Given the description of an element on the screen output the (x, y) to click on. 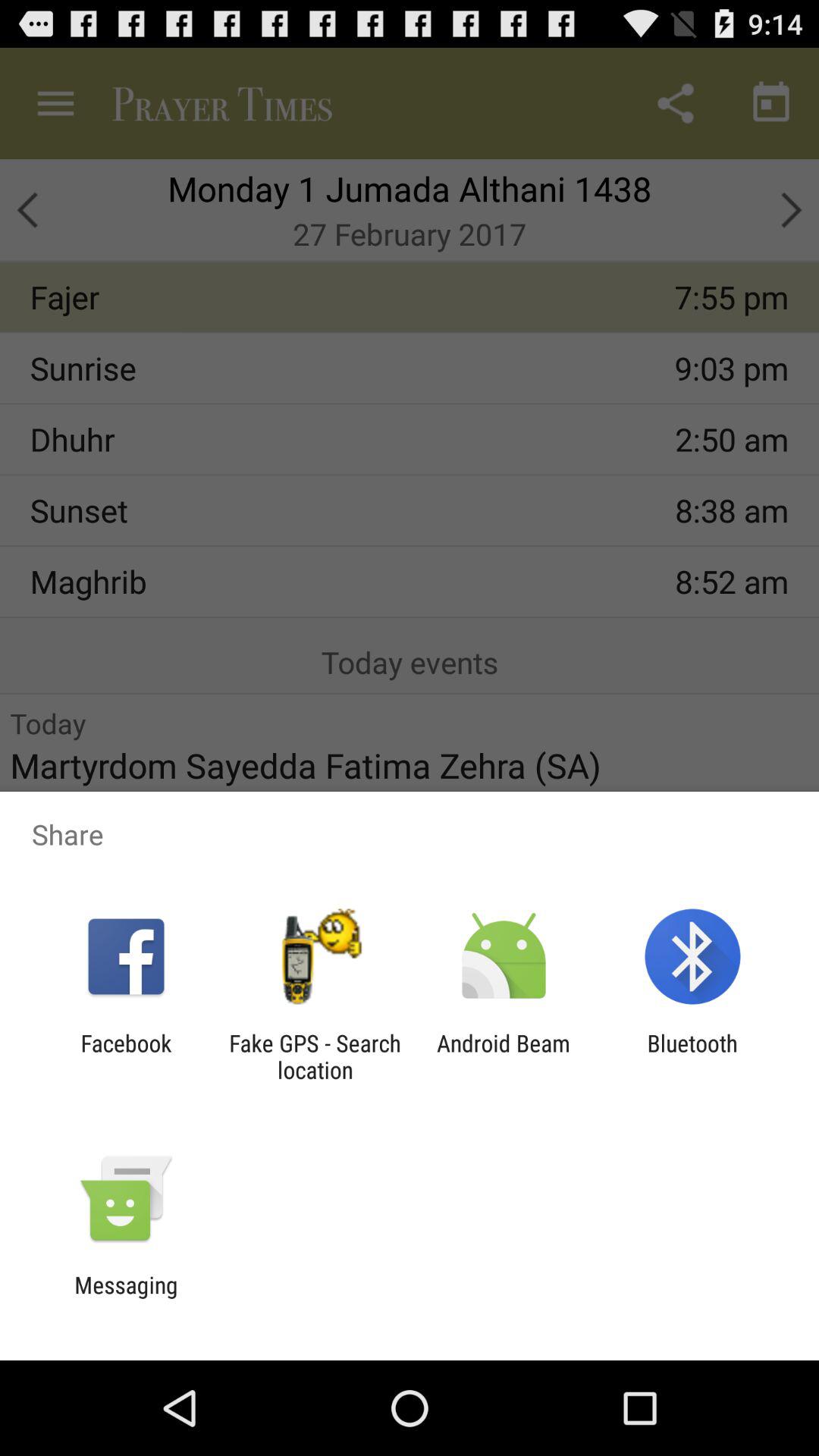
swipe until the bluetooth (692, 1056)
